Given the description of an element on the screen output the (x, y) to click on. 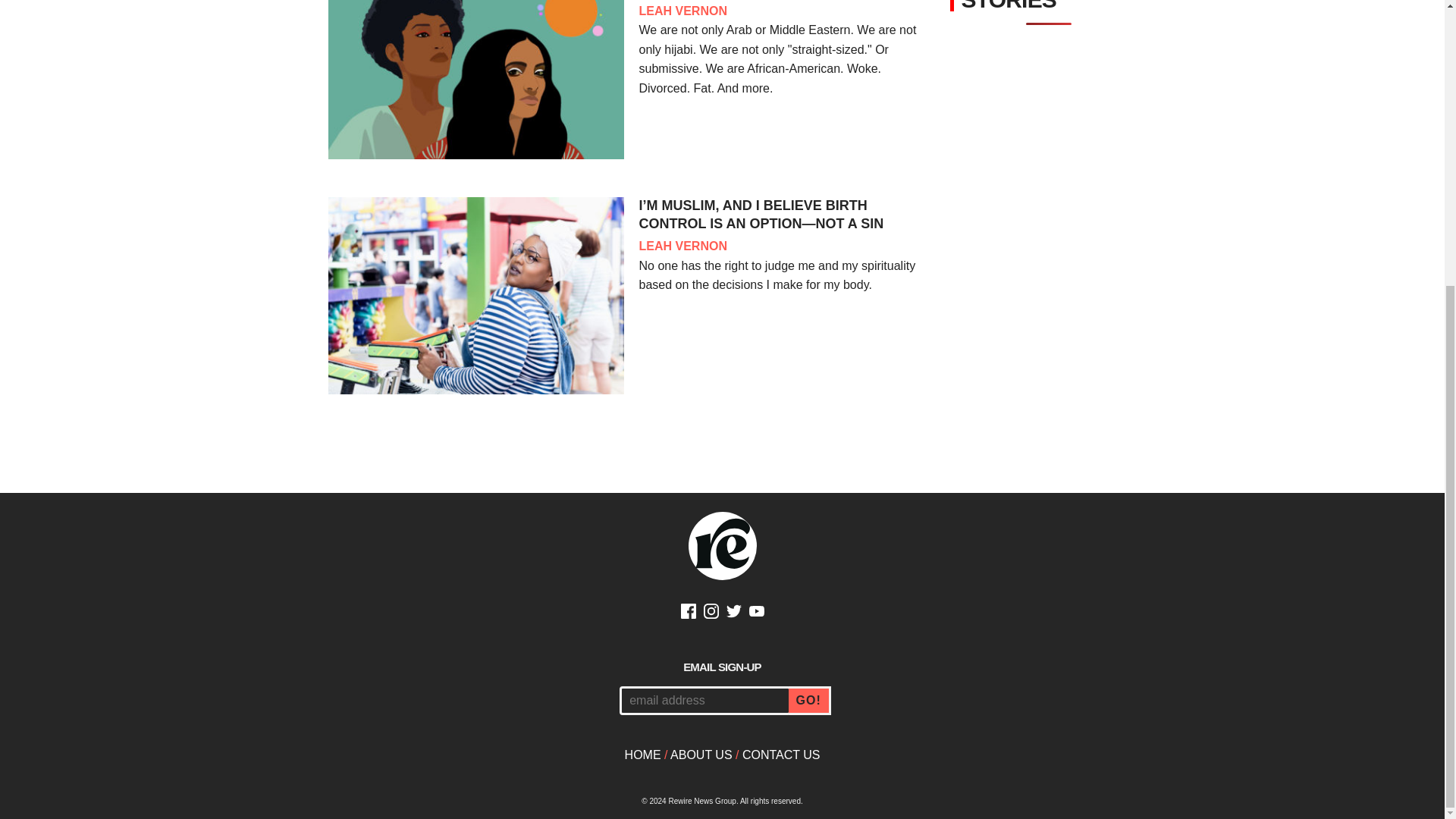
GO! (810, 700)
LEAH VERNON (682, 10)
INSTAGRAM (711, 613)
TWITTER (733, 613)
FACEBOOK (688, 613)
LEAH VERNON (682, 245)
GO! (810, 700)
YOUTUBE (756, 613)
